Given the description of an element on the screen output the (x, y) to click on. 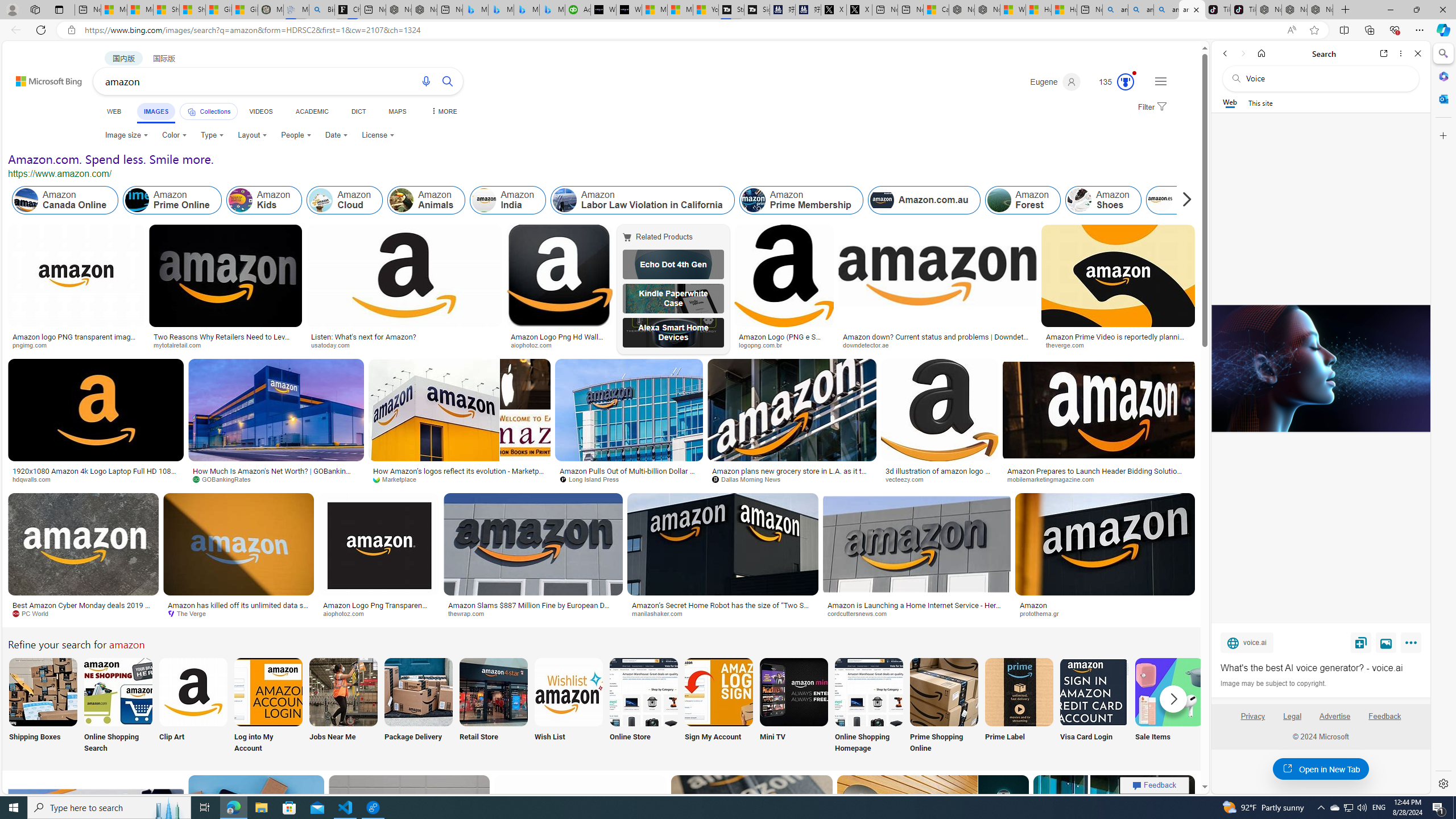
Amazon Jobs Near Me Jobs Near Me (342, 706)
Privacy (1252, 720)
Amazon Shipping Boxes Shipping Boxes (42, 706)
theverge.com (1068, 344)
Listen: What's next for Amazon? (363, 336)
Amazon Online Shopping Search Online Shopping Search (118, 706)
Amazon India (508, 199)
